Given the description of an element on the screen output the (x, y) to click on. 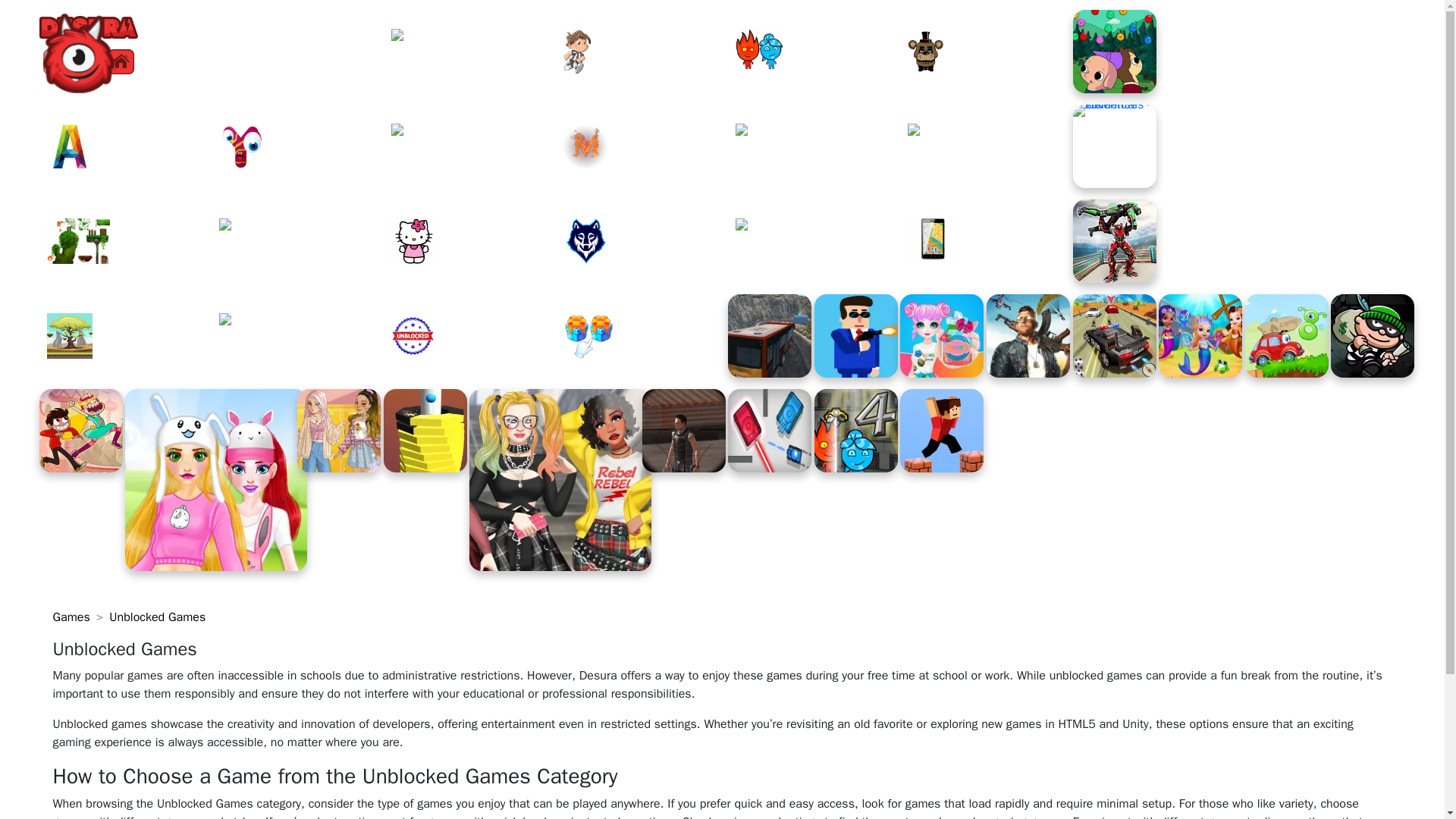
Hair Games (302, 240)
Yepi (302, 146)
Miniclip (647, 146)
Wolf Games (647, 240)
Menu (88, 62)
Addicting (475, 146)
Agame (130, 146)
Boy Games (647, 51)
2D Games (130, 240)
Advertisement (1291, 150)
Search (55, 62)
Side-Scrolling (130, 335)
Drifting Games (819, 240)
Mobile Games (990, 240)
Hello Kitty Games (475, 240)
